Given the description of an element on the screen output the (x, y) to click on. 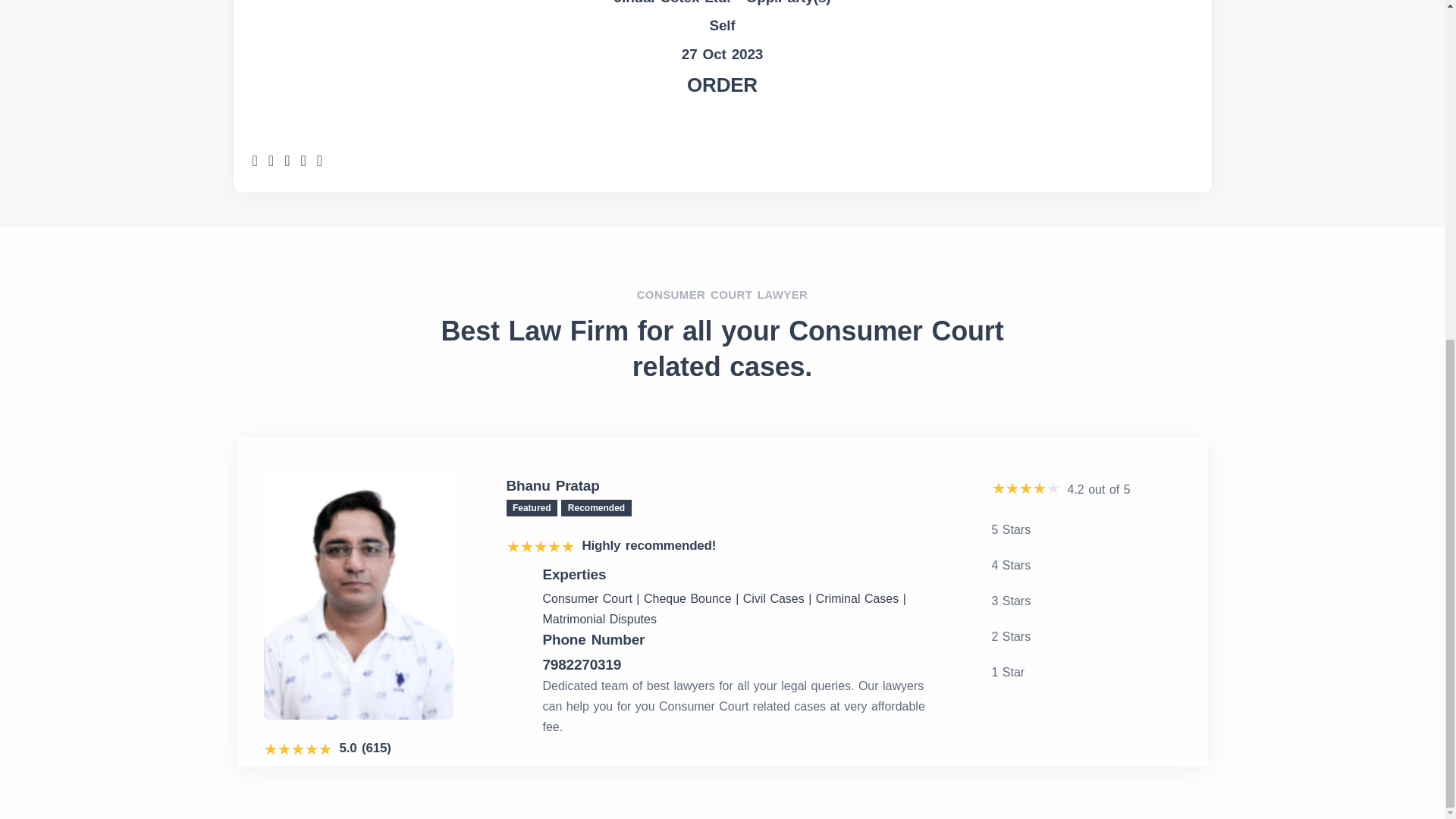
7982270319 (741, 664)
